Given the description of an element on the screen output the (x, y) to click on. 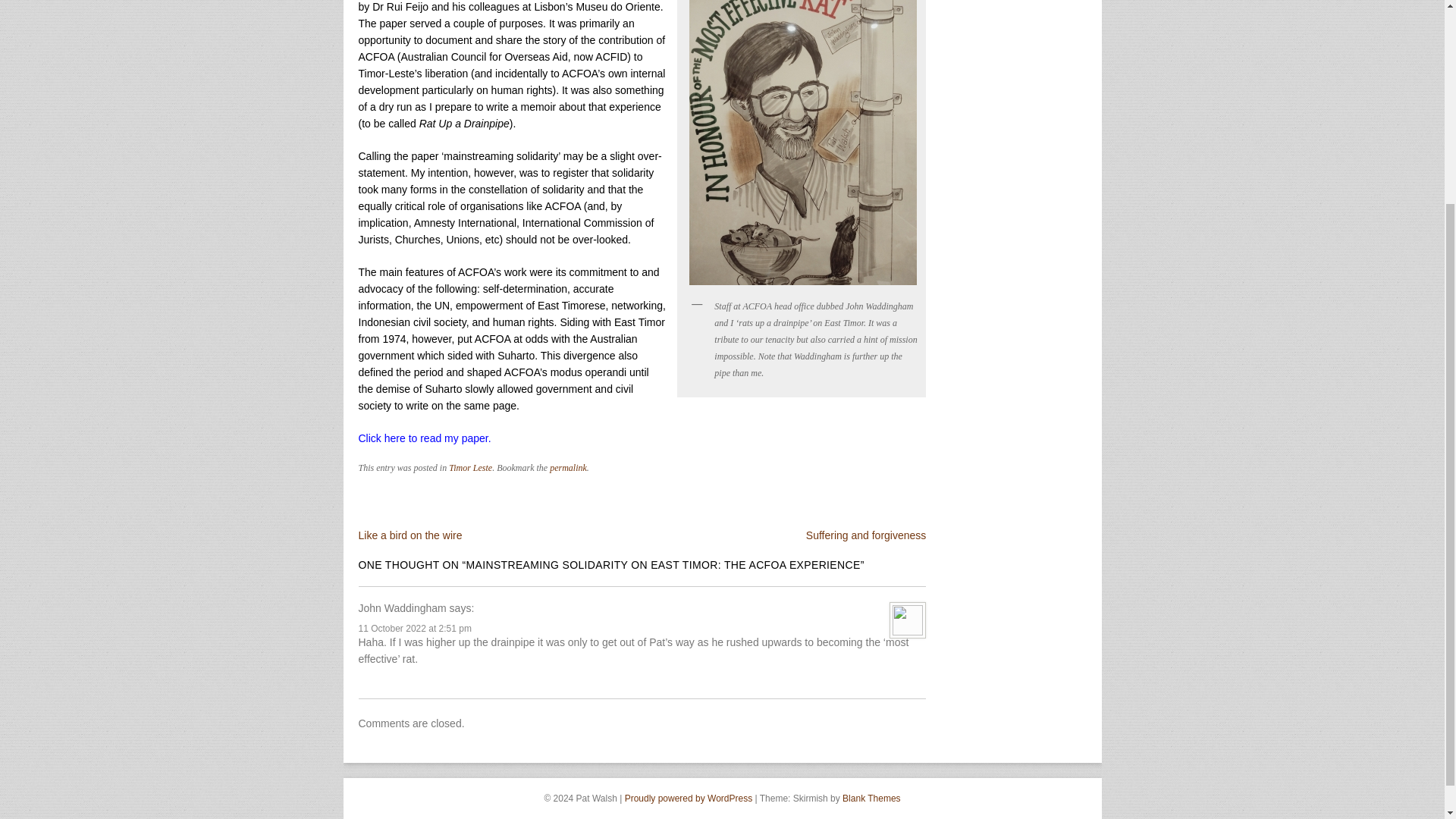
permalink (568, 467)
A Semantic Personal Publishing Platform (688, 798)
Suffering and forgiveness (866, 535)
Click here to read my paper. (424, 438)
11 October 2022 at 2:51 pm (414, 628)
Proudly powered by WordPress (688, 798)
Timor Leste (470, 467)
Blank Themes (871, 798)
Like a bird on the wire (409, 535)
